Given the description of an element on the screen output the (x, y) to click on. 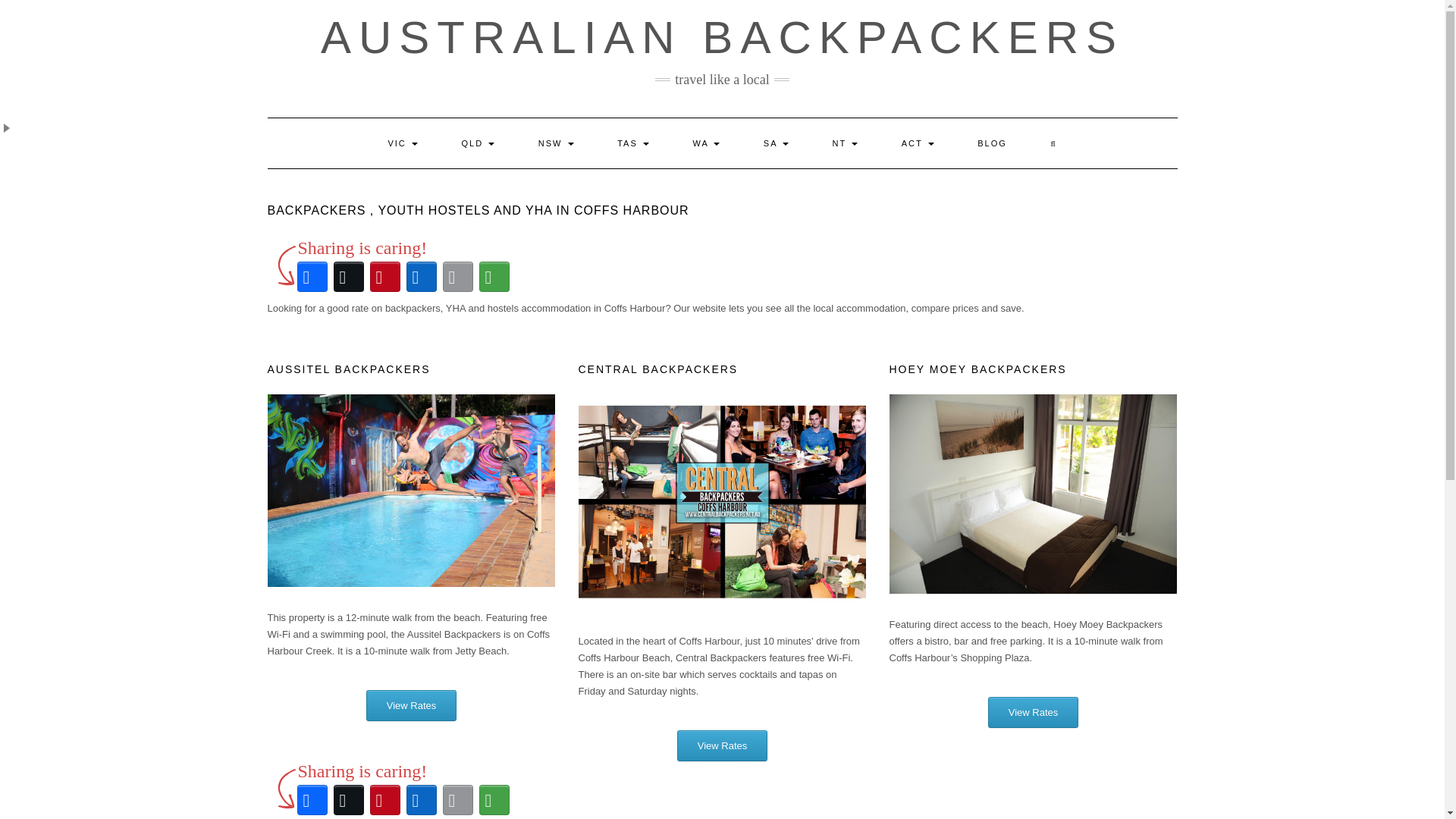
Email This (457, 800)
LinkedIn (421, 800)
Facebook (312, 276)
Pinterest (384, 800)
ACT (917, 142)
VIC (402, 142)
TAS (632, 142)
Aussitel Backpackers (410, 489)
BLOG (991, 142)
Facebook (312, 800)
NSW (556, 142)
NT (845, 142)
Email This (457, 276)
WA (705, 142)
LinkedIn (421, 276)
